Given the description of an element on the screen output the (x, y) to click on. 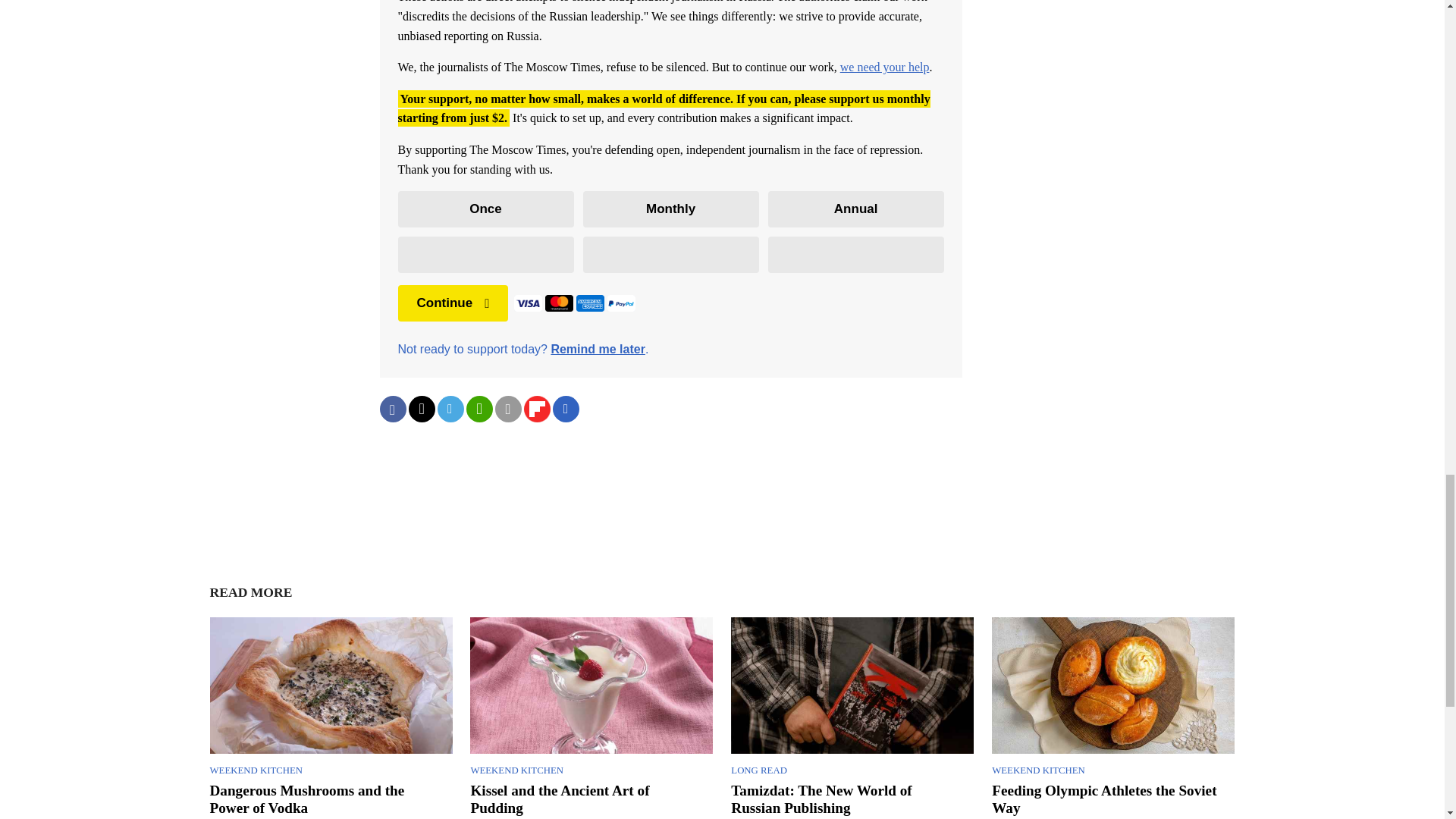
Share on Telegram (449, 408)
Share on Facebook (392, 408)
Share on Twitter (420, 408)
we need your help (885, 66)
Share on Flipboard (536, 408)
